Given the description of an element on the screen output the (x, y) to click on. 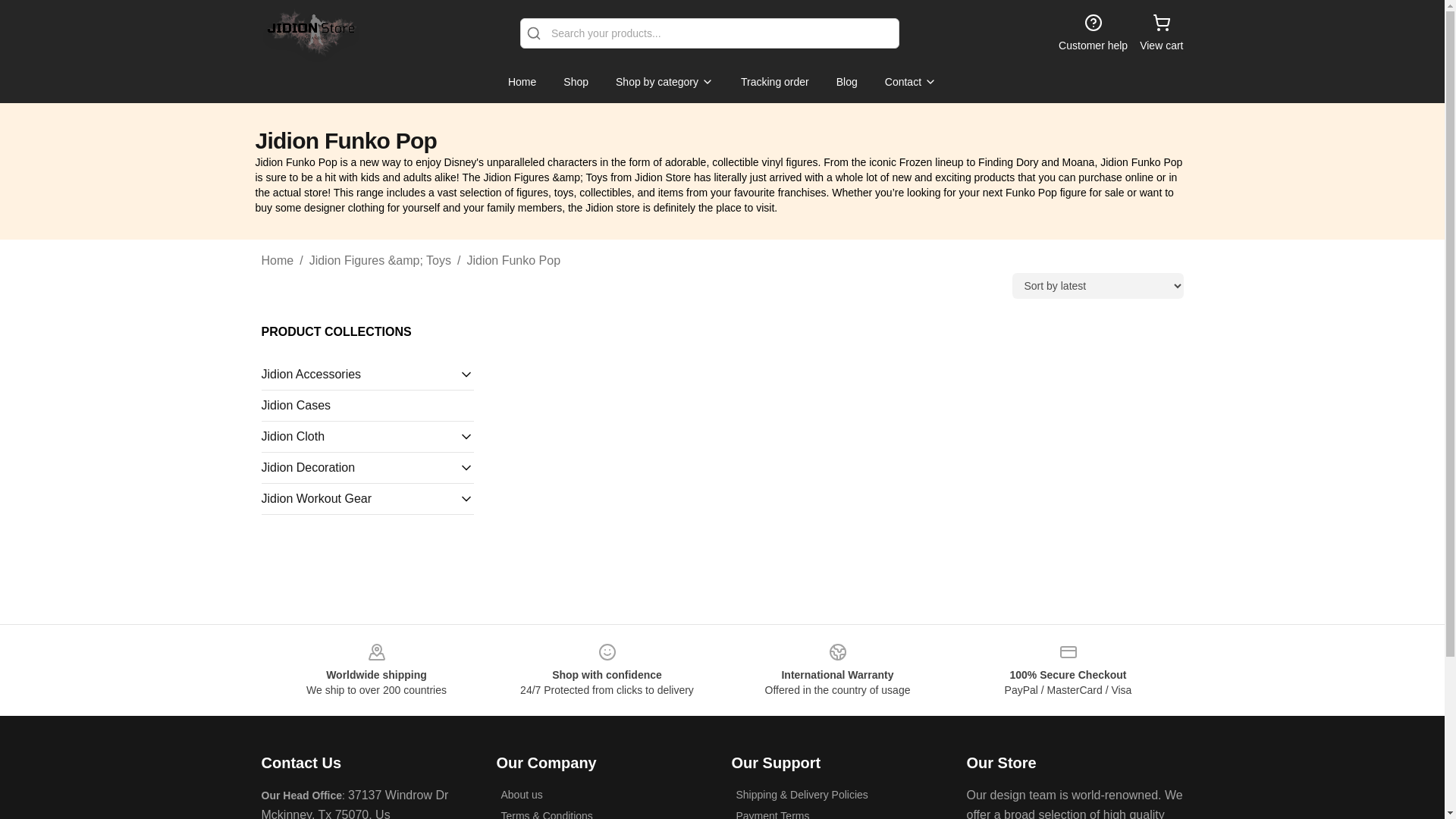
Jidion Funko Pop (512, 260)
Customer help (1092, 33)
View cart (1161, 33)
Jidion Cases (366, 405)
Contact (910, 81)
view cart (1161, 33)
customer help (1092, 33)
Jidion Accessories (359, 374)
Home (277, 260)
Blog (846, 81)
